Given the description of an element on the screen output the (x, y) to click on. 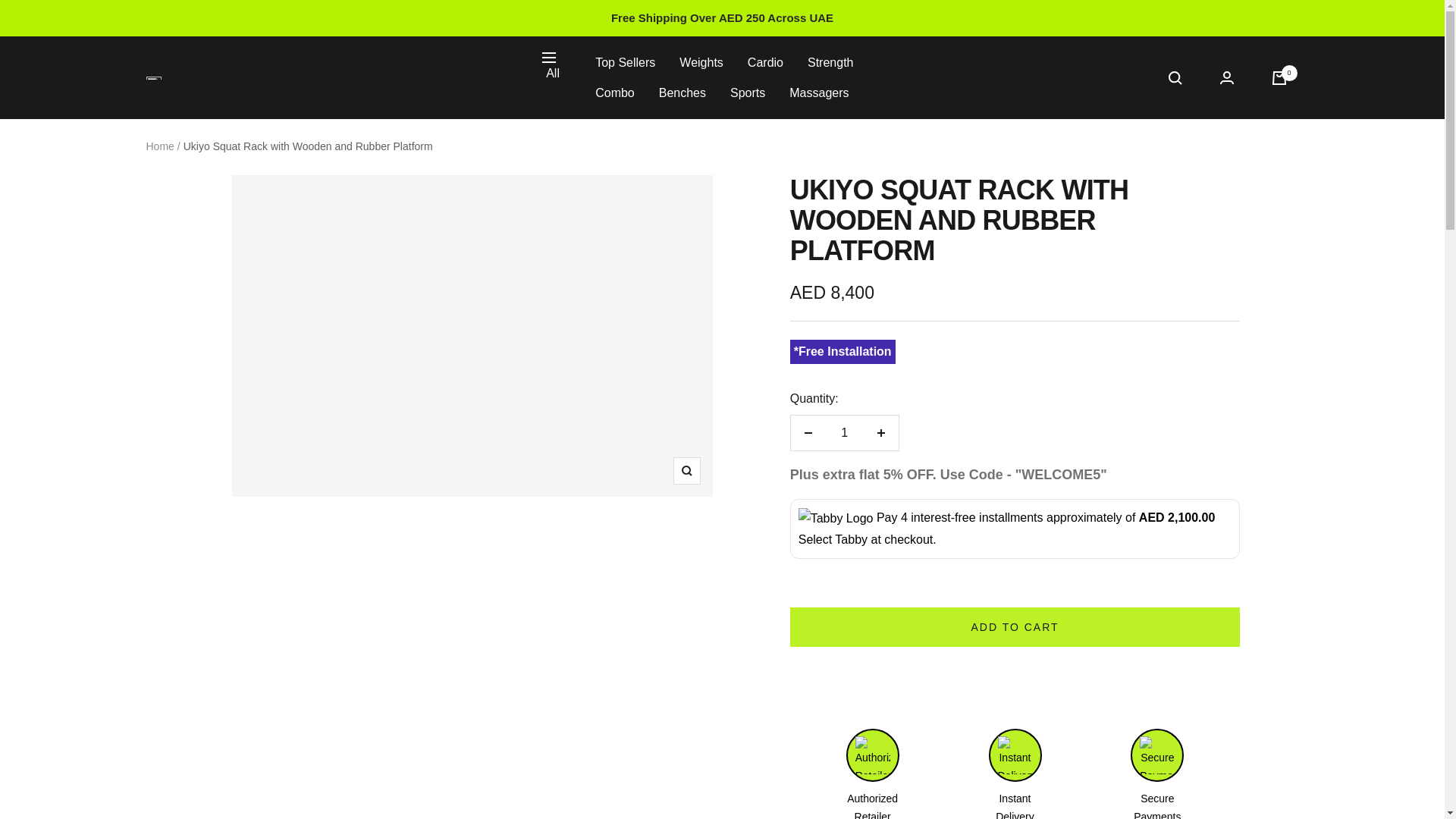
Top Sellers (625, 62)
Benches (682, 93)
Weights (701, 62)
0 (1279, 78)
Strength (830, 62)
Sports (747, 93)
Athletix.ae (152, 77)
Combo (614, 93)
Massagers (818, 93)
1 (844, 432)
